Given the description of an element on the screen output the (x, y) to click on. 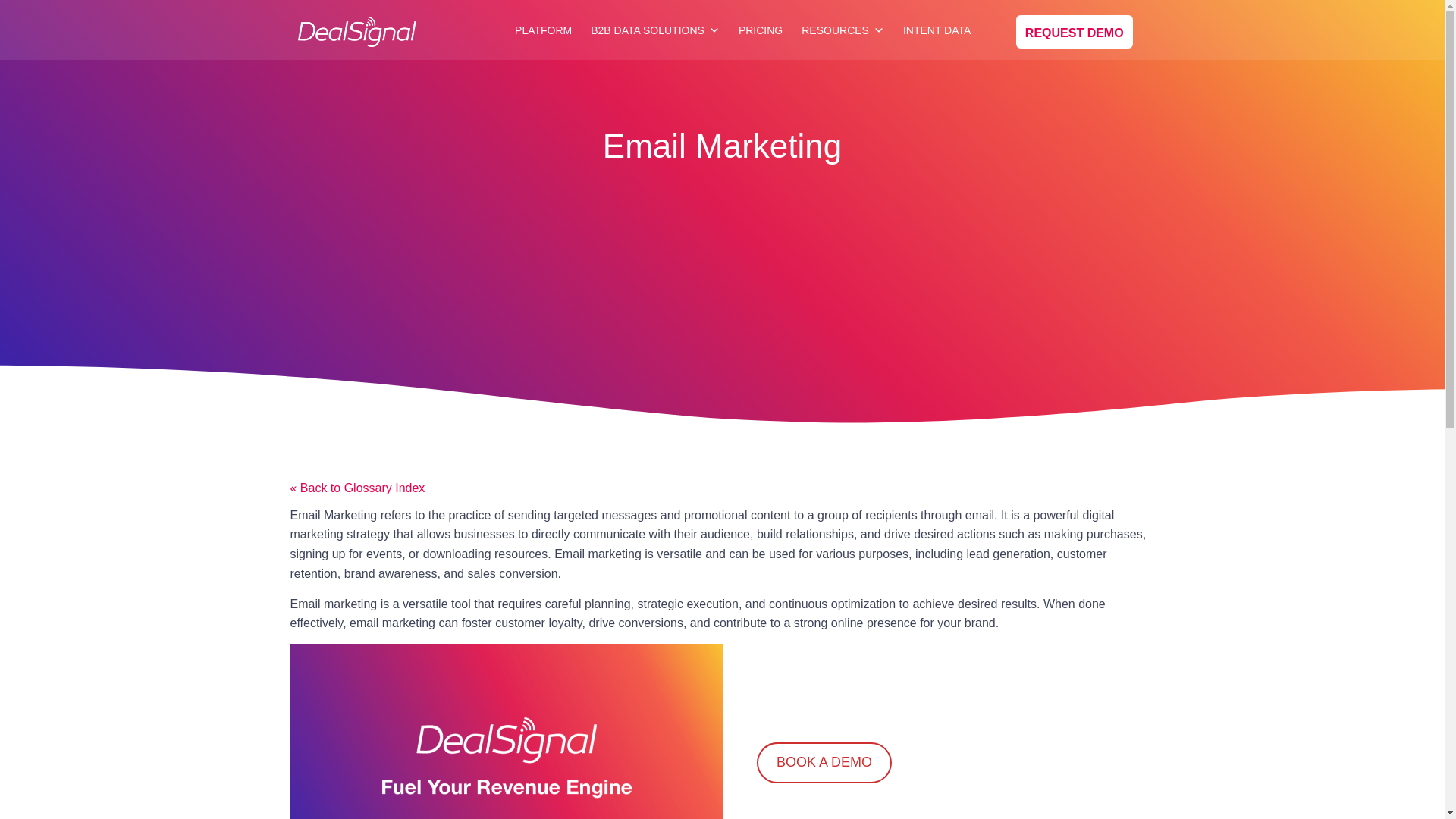
INTENT DATA (936, 30)
REQUEST DEMO (1074, 31)
PLATFORM (542, 30)
B2B DATA SOLUTIONS (654, 30)
BOOK A DEMO (824, 762)
RESOURCES (842, 30)
PRICING (760, 30)
